Given the description of an element on the screen output the (x, y) to click on. 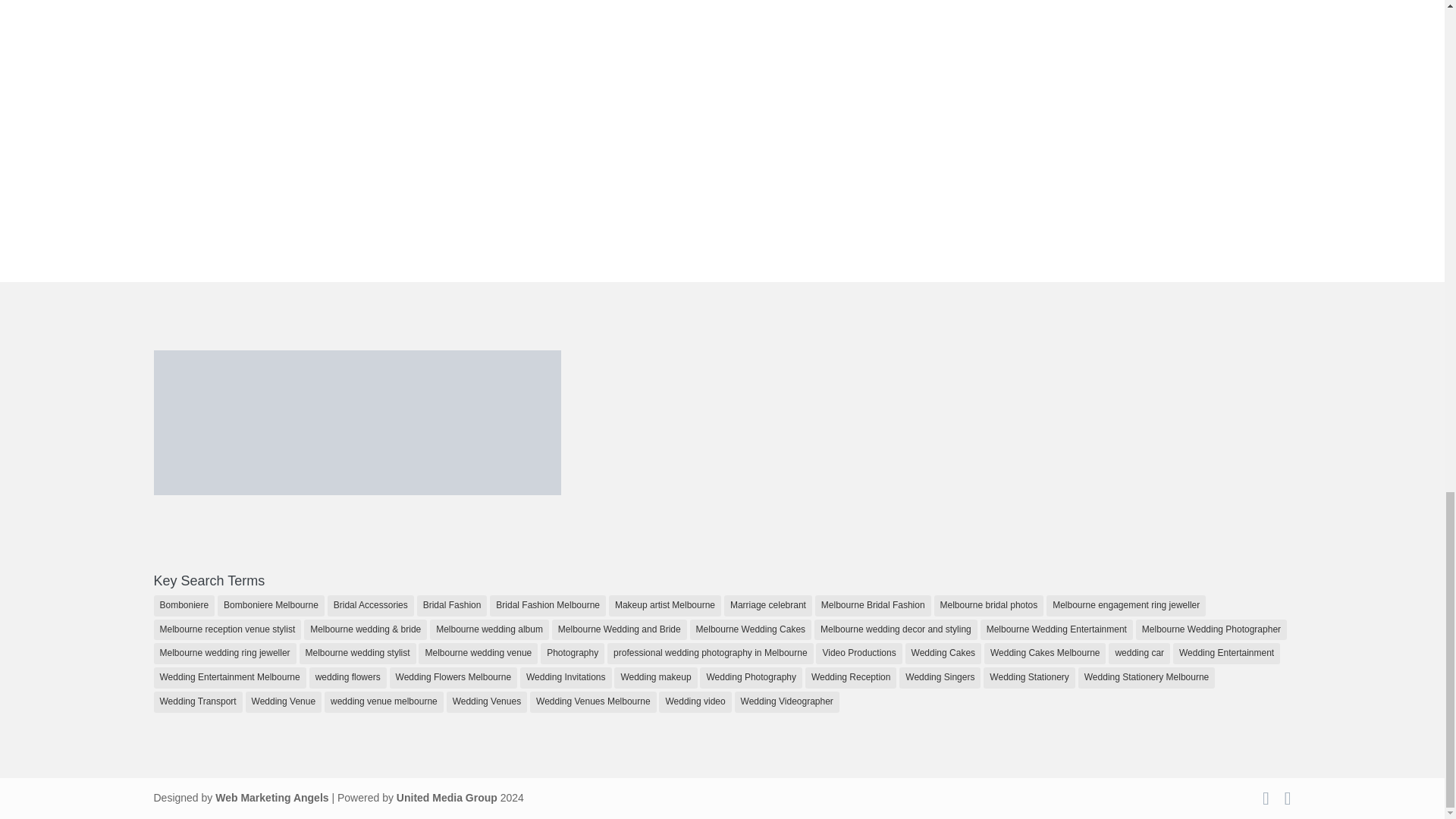
Bridal Fashion Melbourne (547, 605)
Bomboniere (183, 605)
Bridal Accessories (370, 605)
Melbourne Wedding and Bride Services (446, 797)
Melbourne Digital Marketing Services (272, 797)
Bridal Fashion (451, 605)
Bomboniere Melbourne (270, 605)
